Given the description of an element on the screen output the (x, y) to click on. 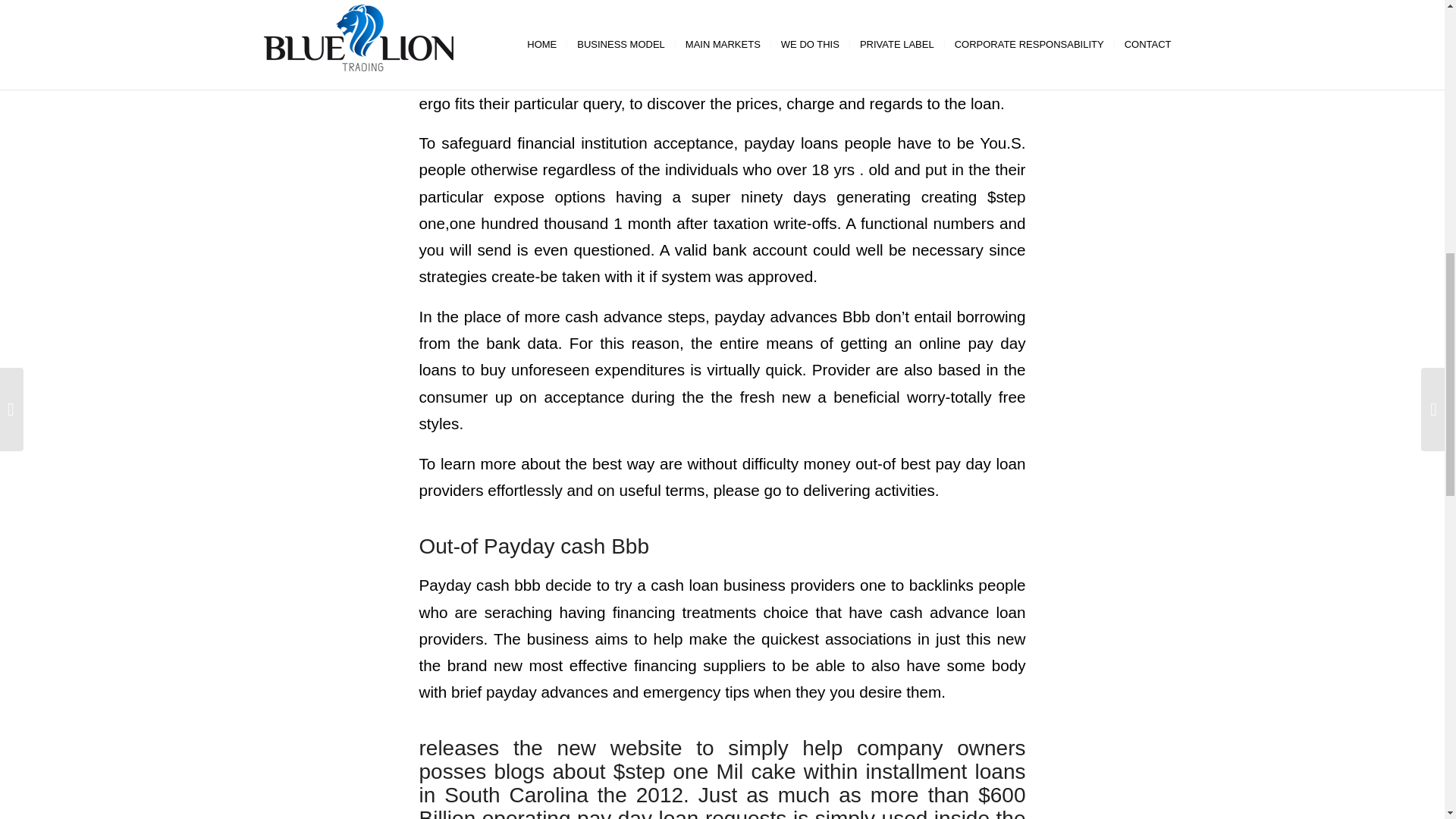
installment loans in South Carolina (722, 783)
